Given the description of an element on the screen output the (x, y) to click on. 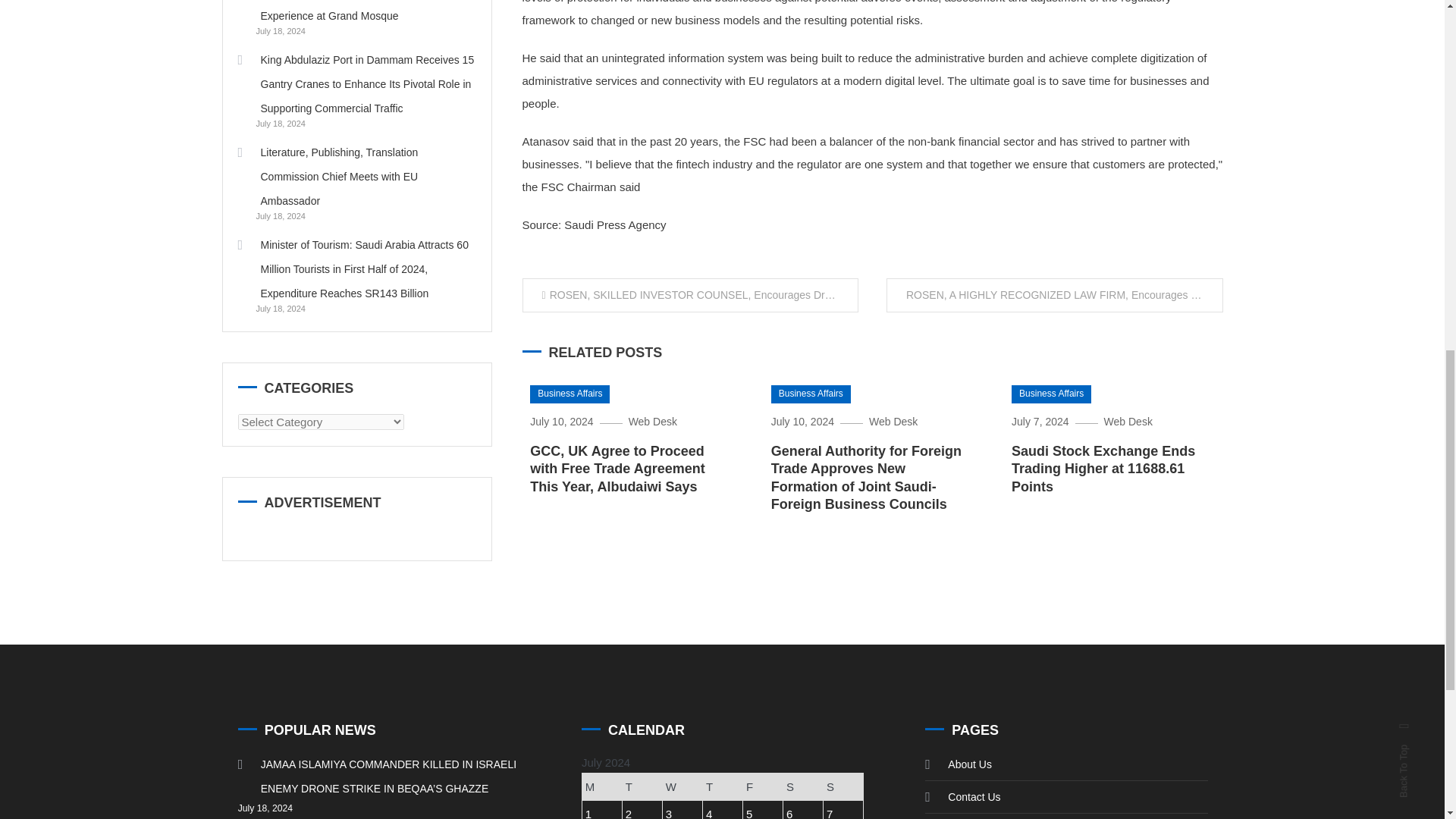
Wednesday (682, 786)
Thursday (722, 786)
Tuesday (642, 786)
Friday (762, 786)
Saturday (803, 786)
Sunday (843, 786)
Monday (602, 786)
